Given the description of an element on the screen output the (x, y) to click on. 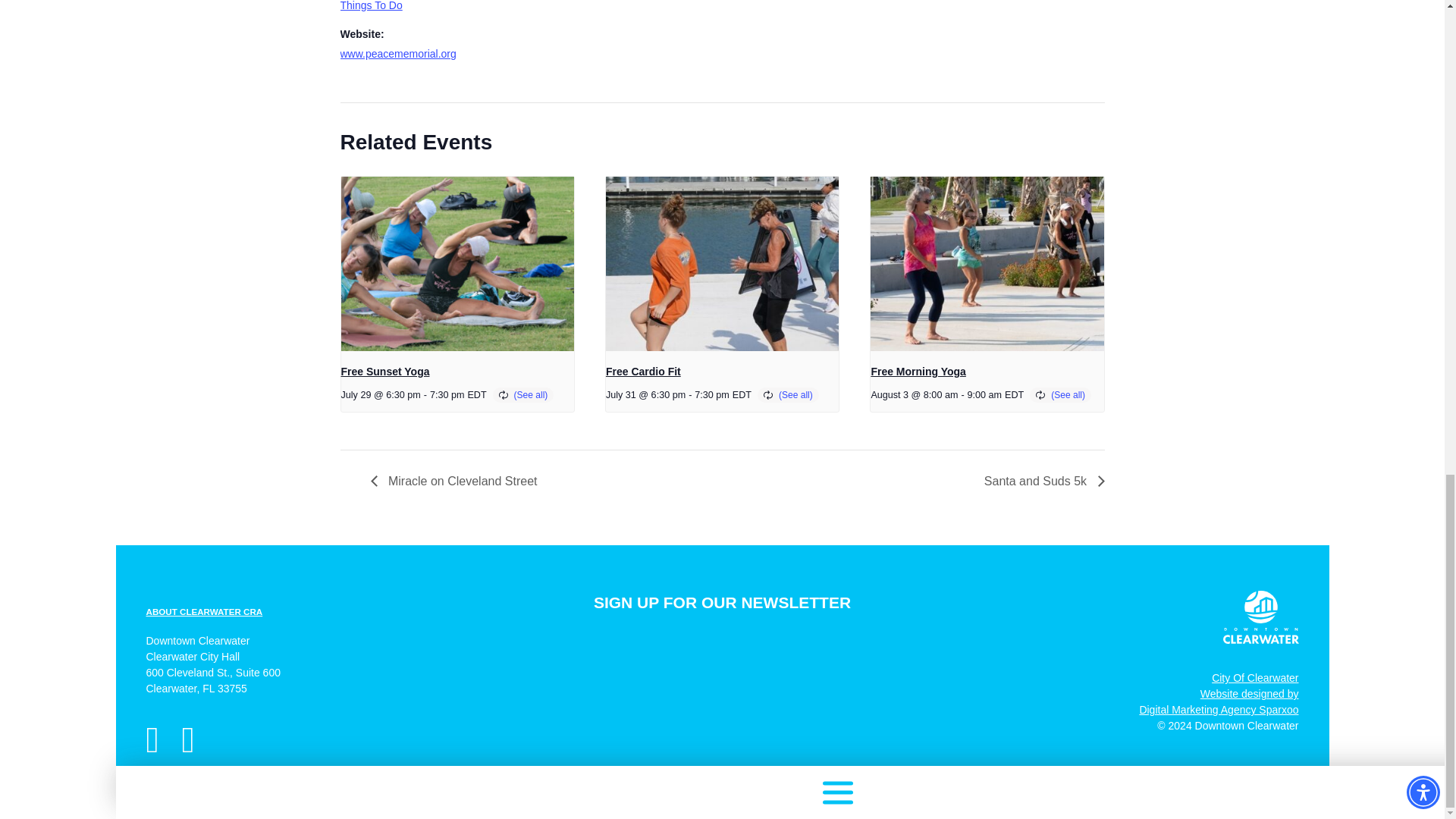
Free Cardio Fit (1218, 707)
Miracle on Cleveland Street (643, 371)
Santa and Suds 5k (456, 481)
ABOUT CLEARWATER CRA (1040, 481)
City Of Clearwater (203, 611)
www.peacememorial.org (1254, 683)
Free Morning Yoga (397, 53)
Things To Do (918, 371)
Free Sunset Yoga (370, 5)
